Given the description of an element on the screen output the (x, y) to click on. 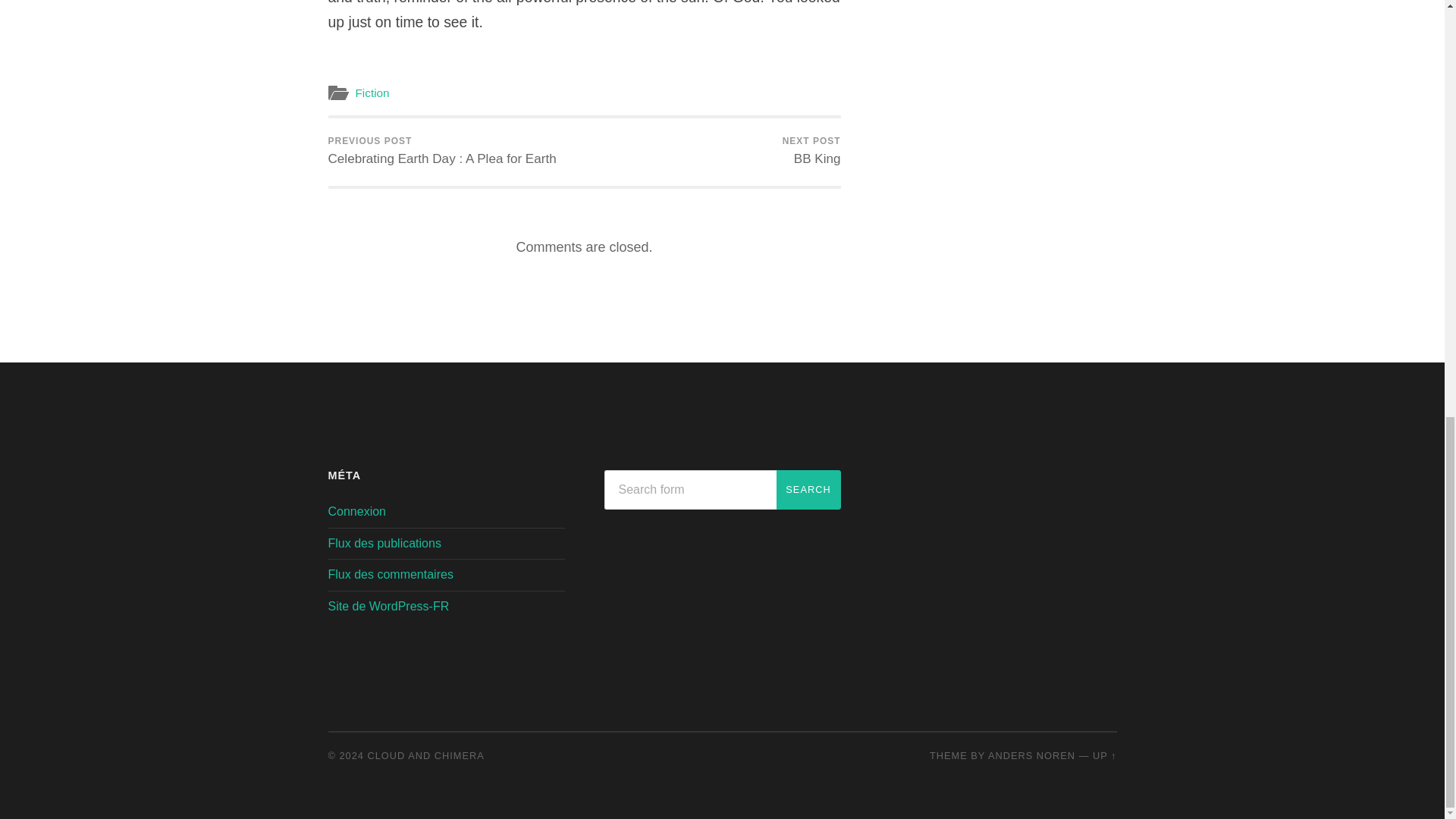
ANDERS NOREN (1031, 755)
Search (808, 489)
Cloud and chimera (426, 755)
Previous post: Celebrating Earth Day : A Plea for Earth (441, 151)
To the top (1104, 755)
Flux des commentaires (389, 574)
Flux des publications (384, 543)
Connexion (356, 511)
CLOUD AND CHIMERA (426, 755)
Search (808, 489)
